Given the description of an element on the screen output the (x, y) to click on. 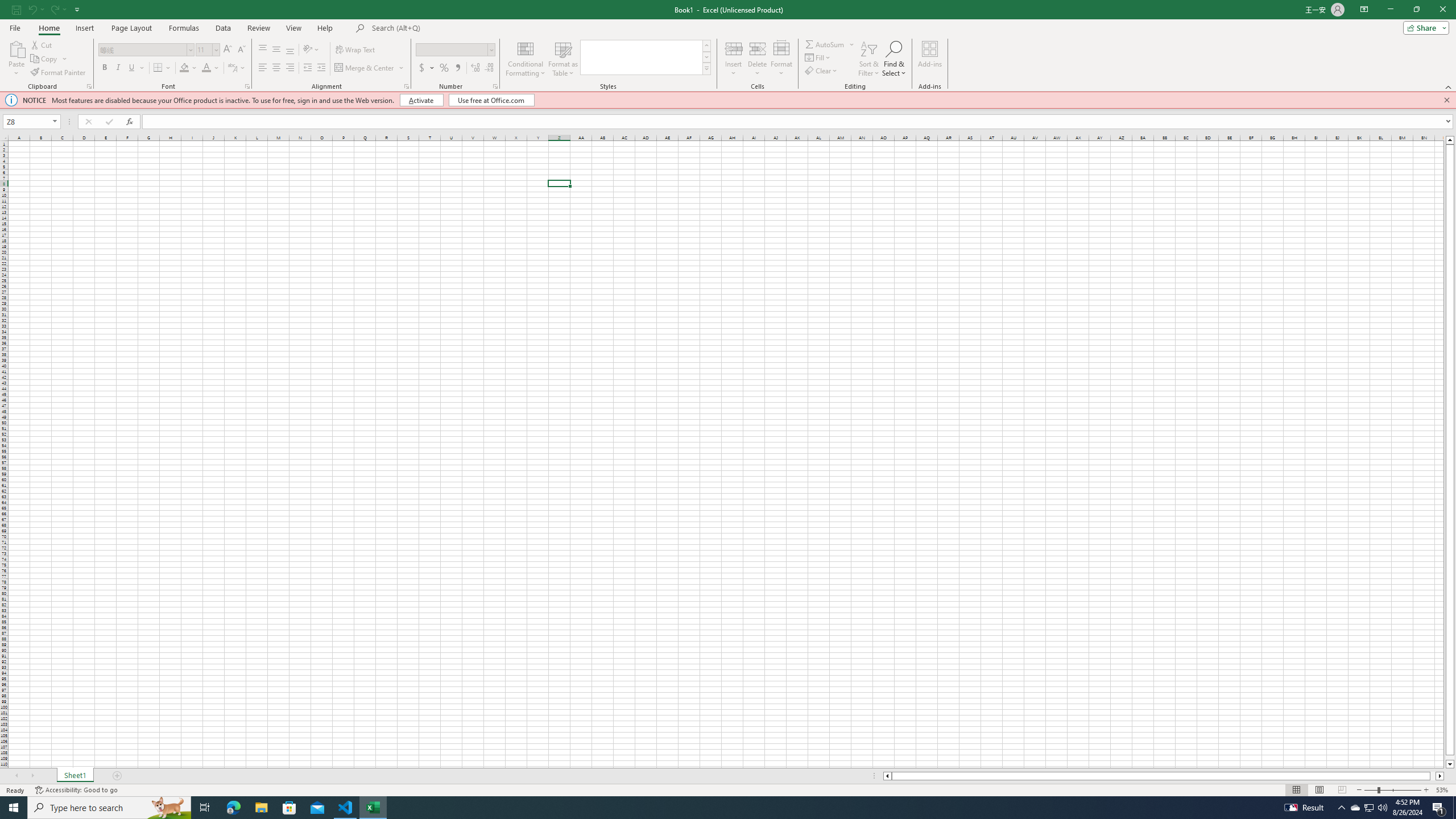
Italic (118, 67)
Format Cell Alignment (405, 85)
Increase Font Size (227, 49)
Number Format (455, 49)
Delete Cells... (757, 48)
